Given the description of an element on the screen output the (x, y) to click on. 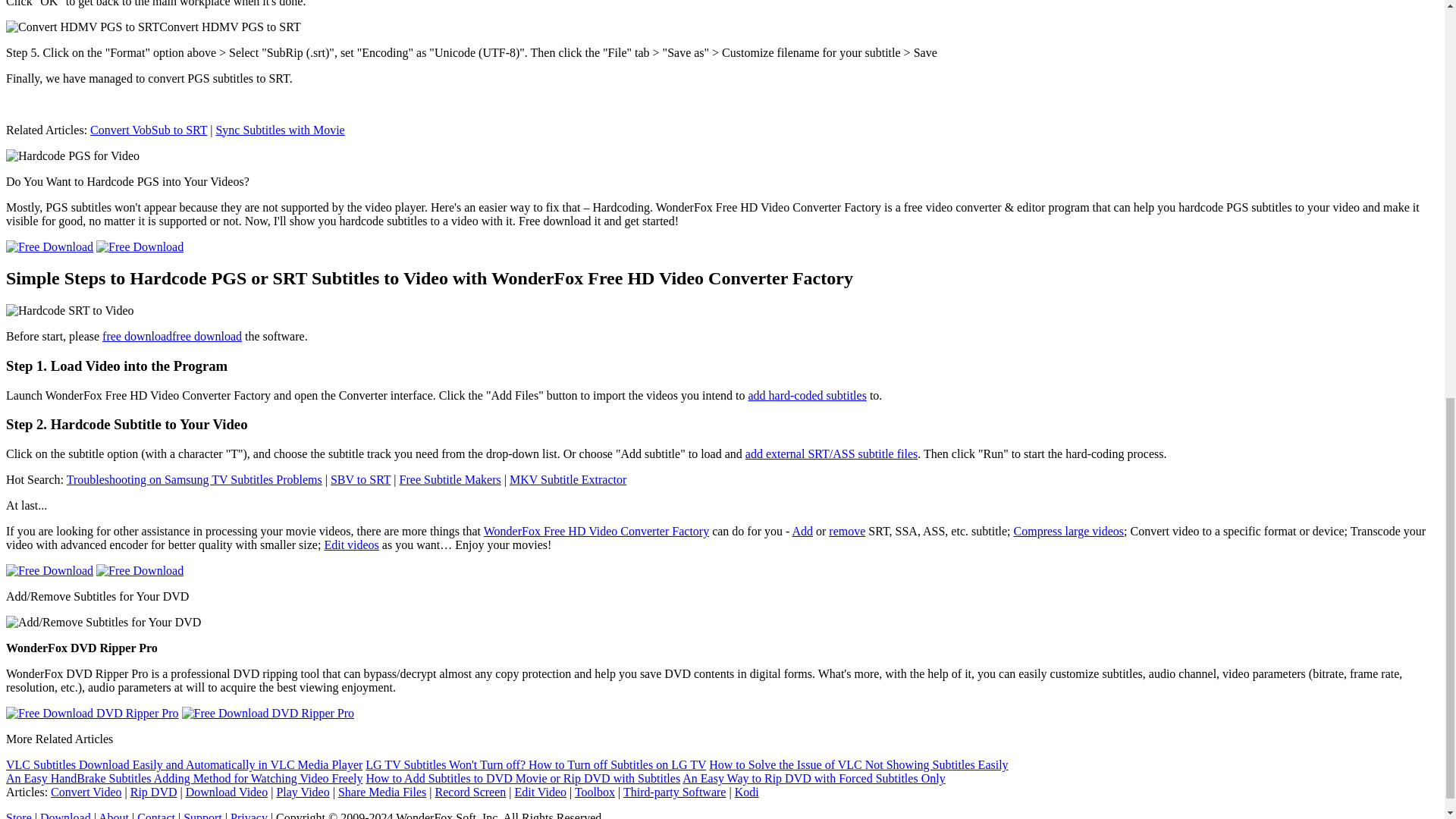
Sync Subtitles with Movie (279, 129)
add hard-coded subtitles (807, 395)
MKV Subtitle Extractor (567, 479)
SBV to SRT (360, 479)
remove (846, 530)
Troubleshooting on Samsung TV Subtitles Problems (193, 479)
Edit videos (350, 544)
Add (802, 530)
WonderFox Free HD Video Converter Factory (596, 530)
